Given the description of an element on the screen output the (x, y) to click on. 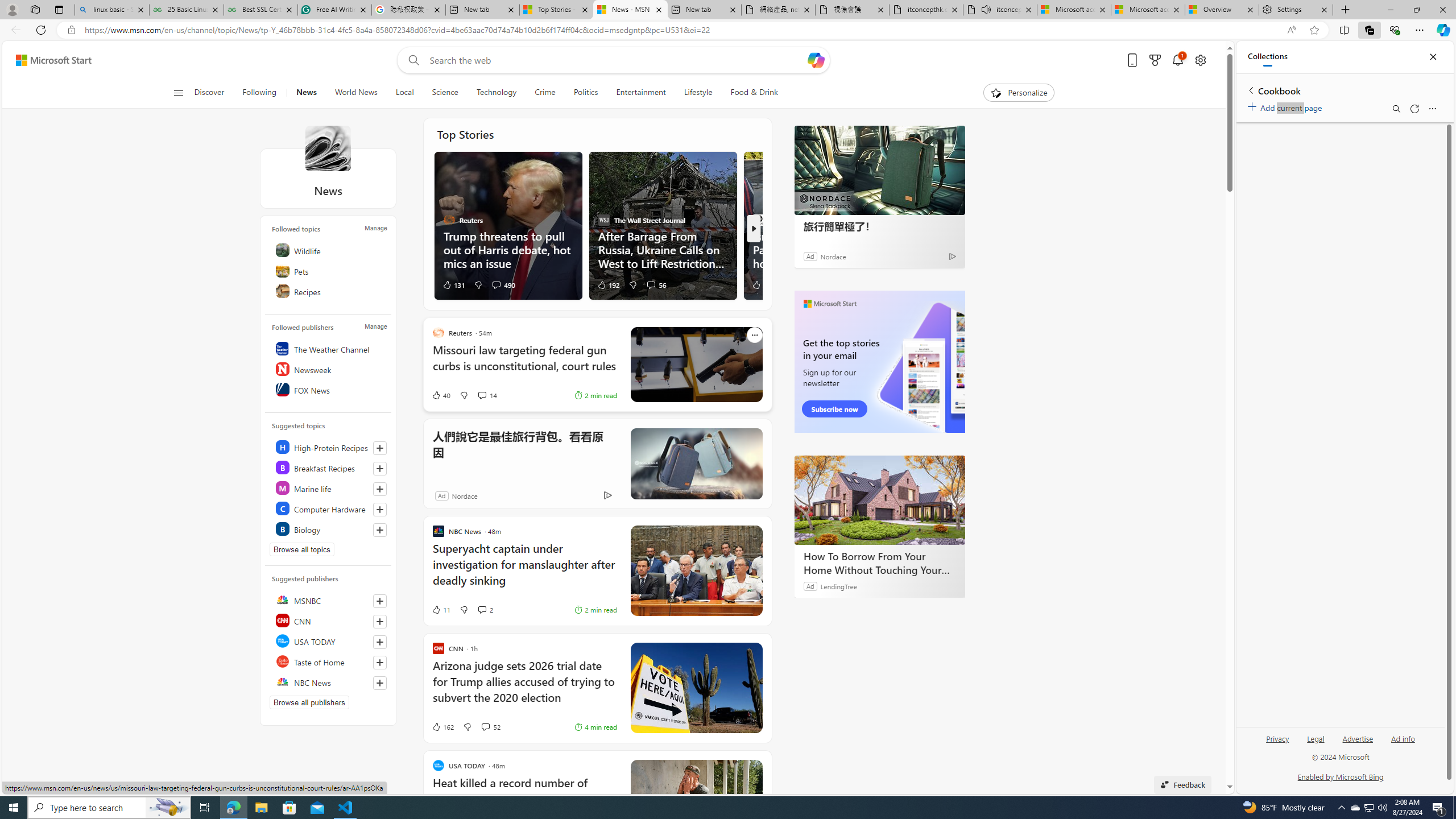
Recipes (328, 290)
Back to list of collections (1250, 90)
131 Like (452, 284)
